Given the description of an element on the screen output the (x, y) to click on. 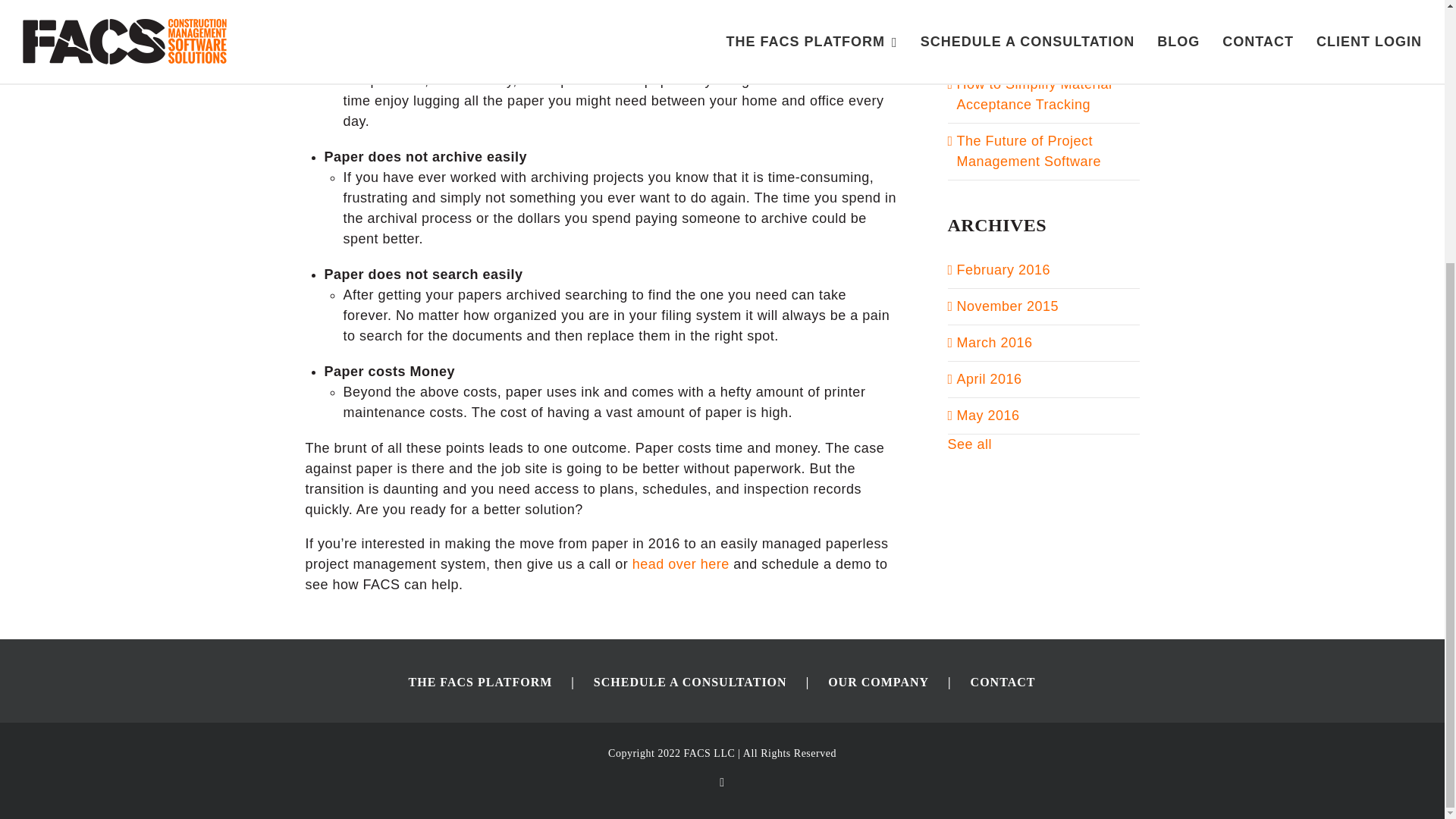
March 2016 (994, 342)
April 2016 (989, 378)
November 2015 (1007, 305)
The Future of Project Management Software (1029, 150)
How to Simplify Material Acceptance Tracking (1034, 94)
February 2016 (1003, 269)
head over here (680, 563)
May 2016 (988, 415)
